Given the description of an element on the screen output the (x, y) to click on. 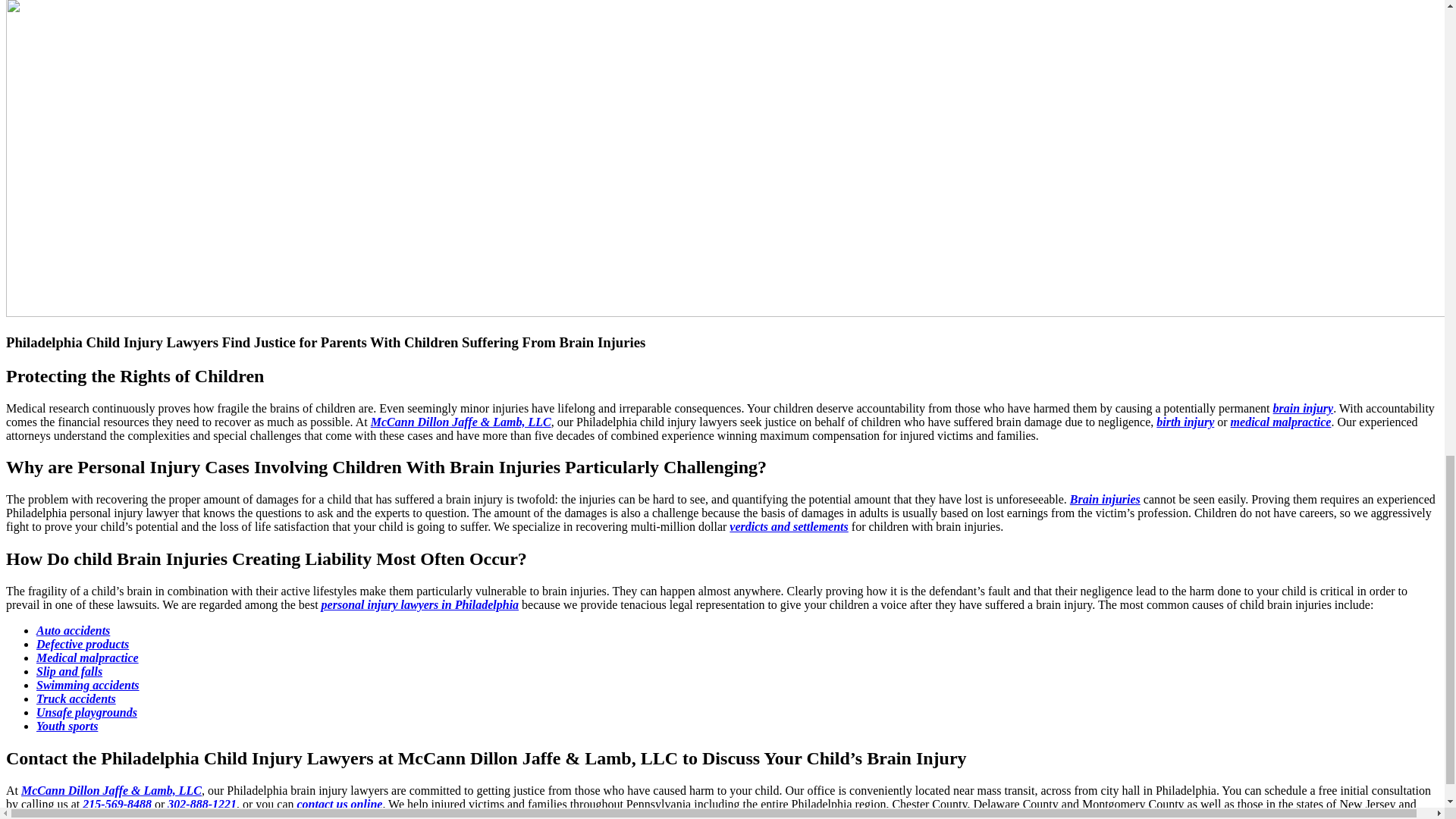
Motor Vehicle Accidents (73, 630)
Trucking Accidents (76, 698)
Child Accidents (86, 712)
Medical Malpractice (87, 657)
